Given the description of an element on the screen output the (x, y) to click on. 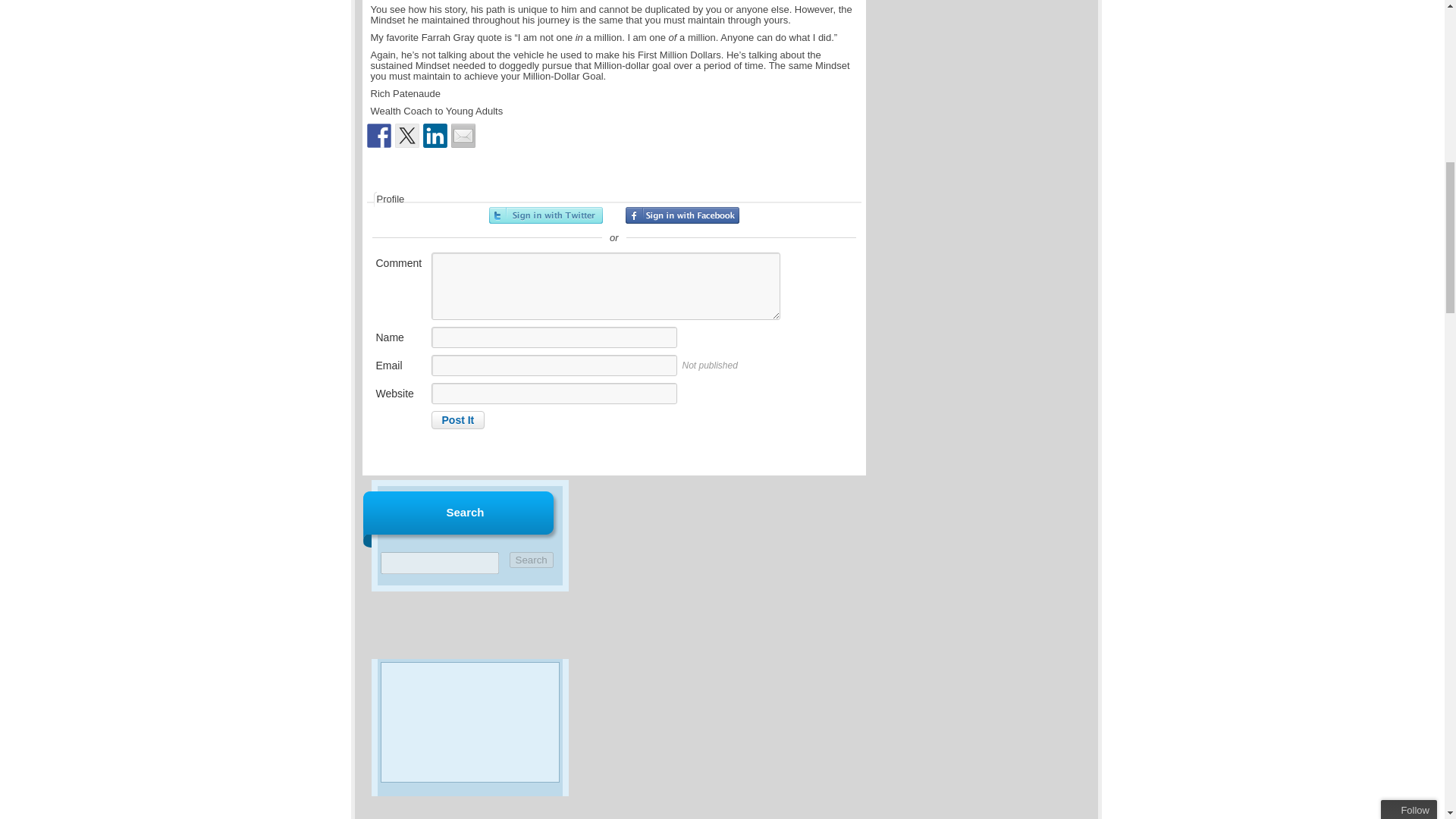
Share on Twitter (406, 135)
Share by email (461, 135)
Sign in with Facebook (682, 215)
Share on Facebook (378, 135)
Search (531, 560)
Sign in with Twitter (545, 215)
Post It (457, 420)
Enter email address (1352, 172)
Post It (457, 420)
Subscribe (1349, 205)
Search (531, 560)
Share on Linkedin (434, 135)
